Given the description of an element on the screen output the (x, y) to click on. 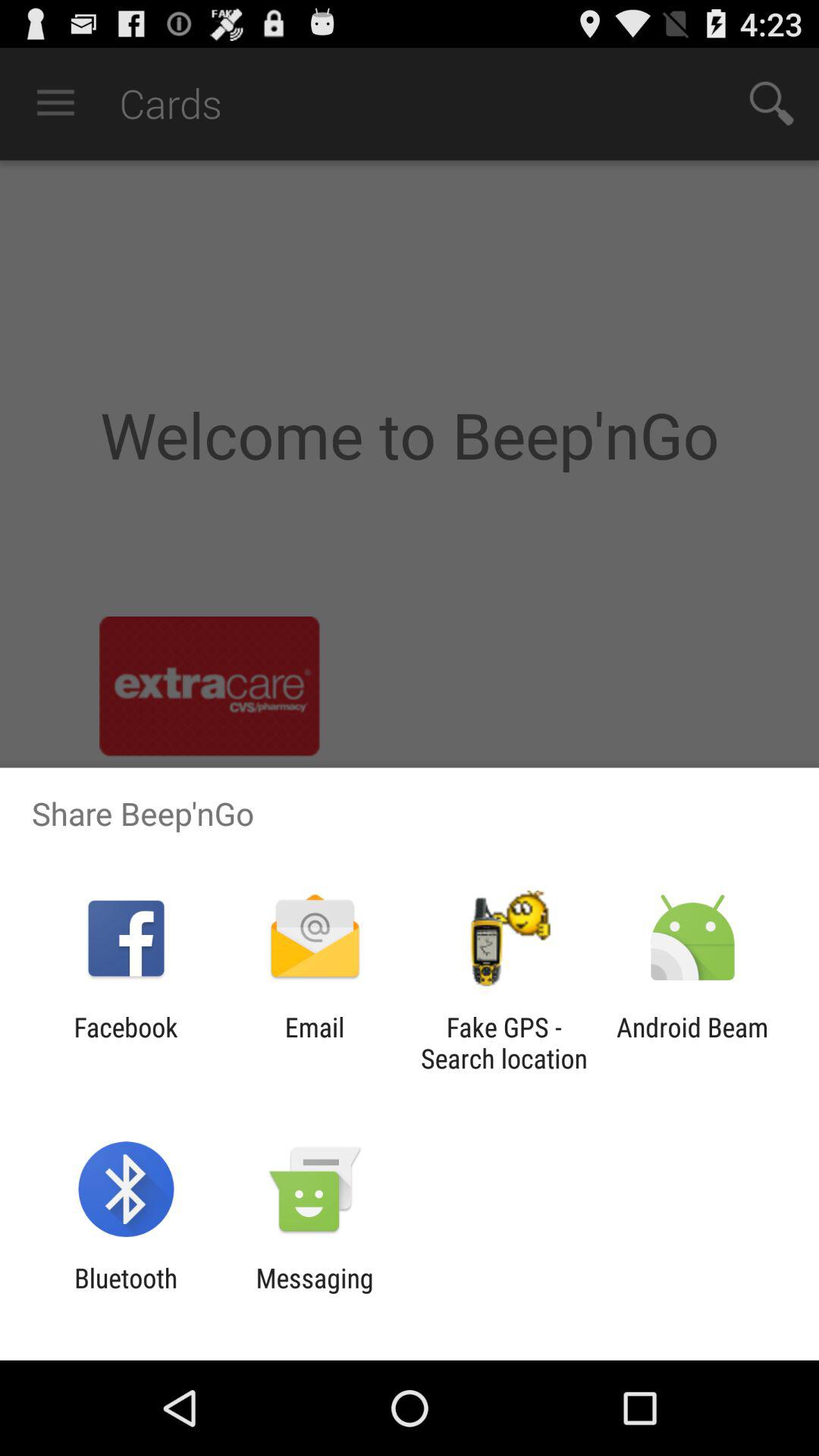
open the bluetooth (125, 1293)
